Given the description of an element on the screen output the (x, y) to click on. 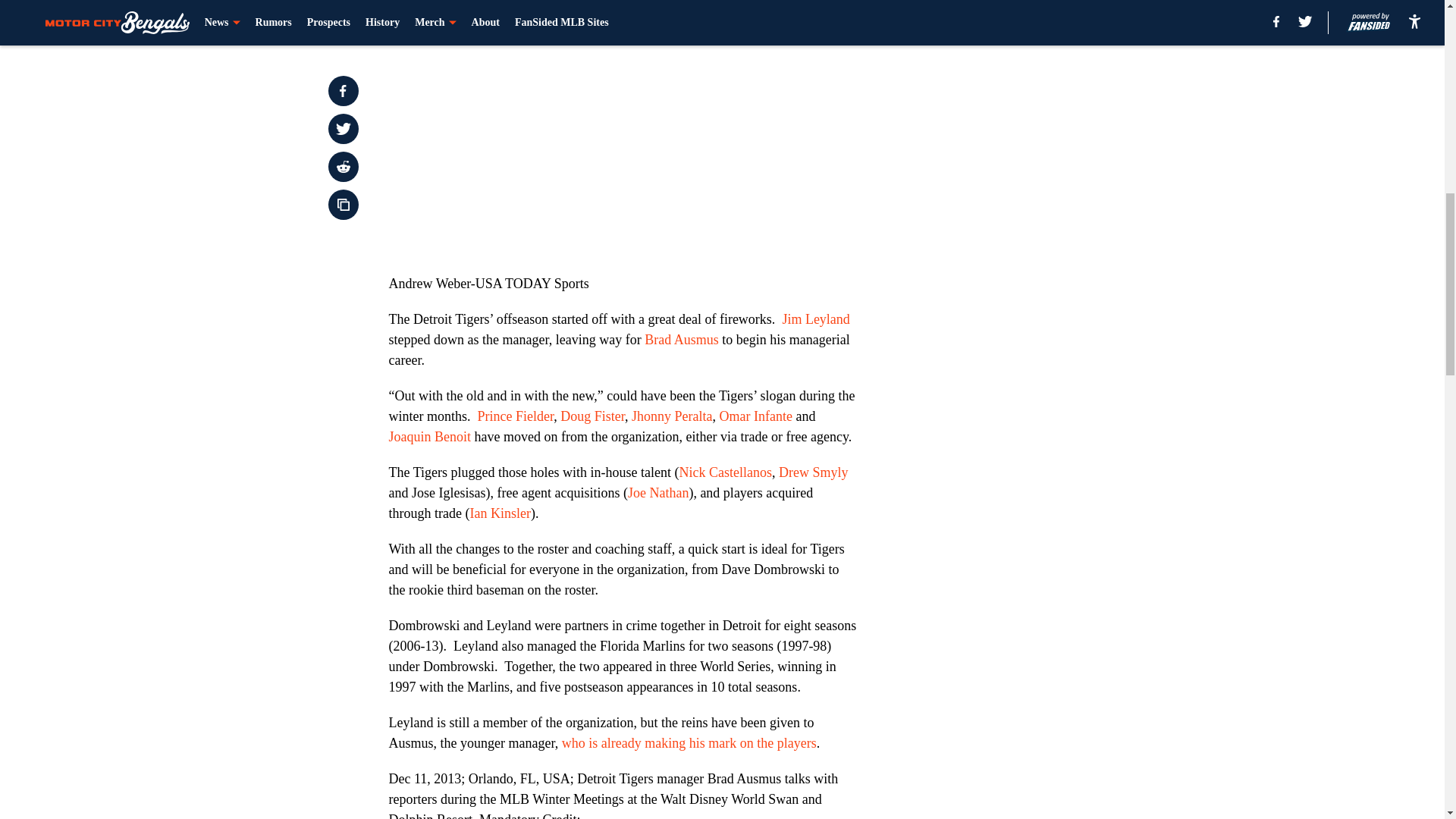
Joe Nathan (657, 492)
Jim Leyland (814, 319)
Joaquin Benoit (429, 436)
Nick Castellanos (724, 472)
Doug Fister (592, 416)
Drew Smyly (813, 472)
Ian Kinsler (498, 513)
who is already making his mark on the players (686, 743)
Prince Fielder (515, 416)
Omar Infante (755, 416)
